Given the description of an element on the screen output the (x, y) to click on. 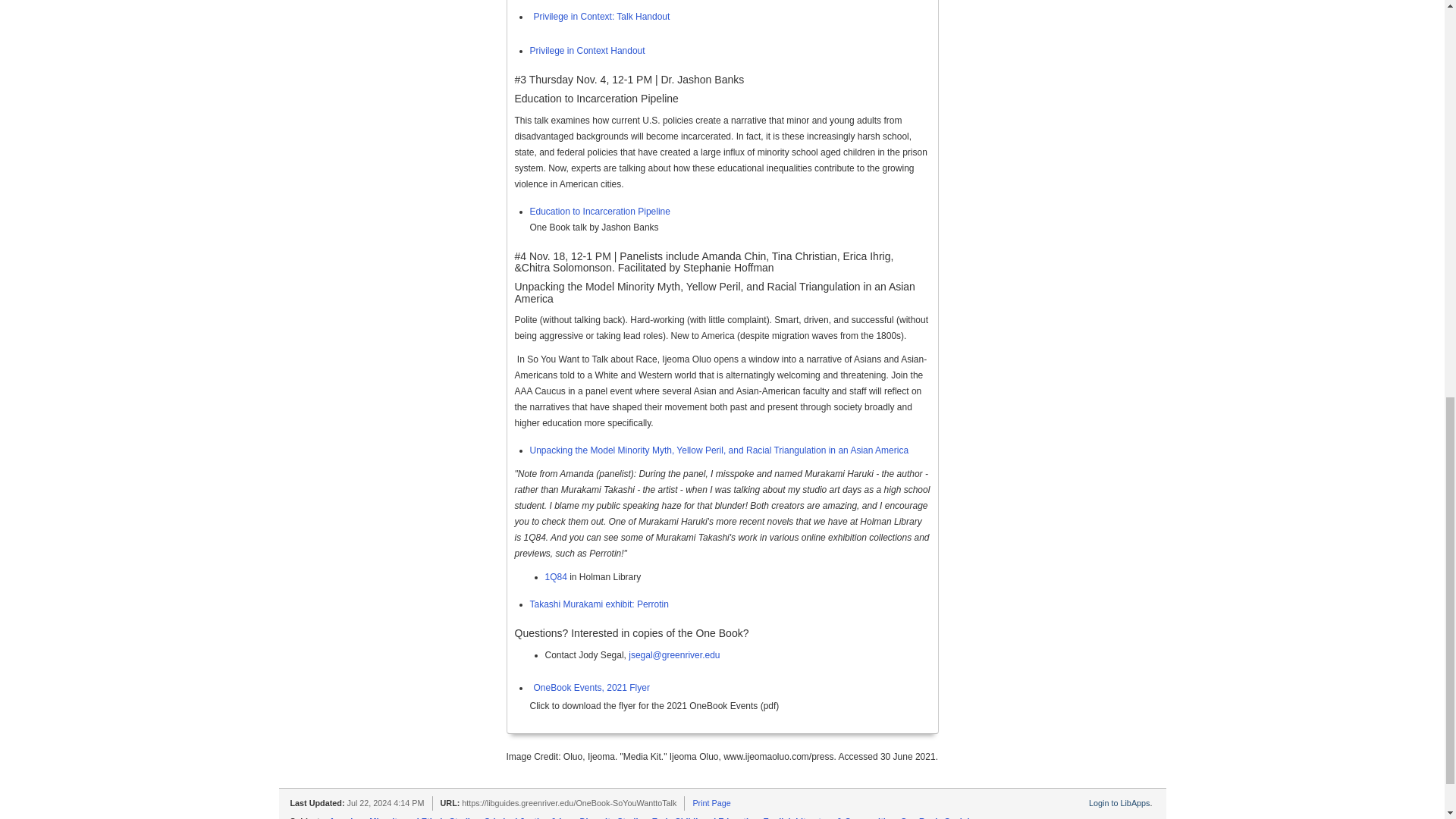
1Q84 (555, 576)
Privilege in Context: Talk Handout (599, 16)
Takashi Murakami exhibit: Perrotin (598, 603)
Education to Incarceration Pipeline (599, 211)
Privilege in Context Handout (587, 50)
